Given the description of an element on the screen output the (x, y) to click on. 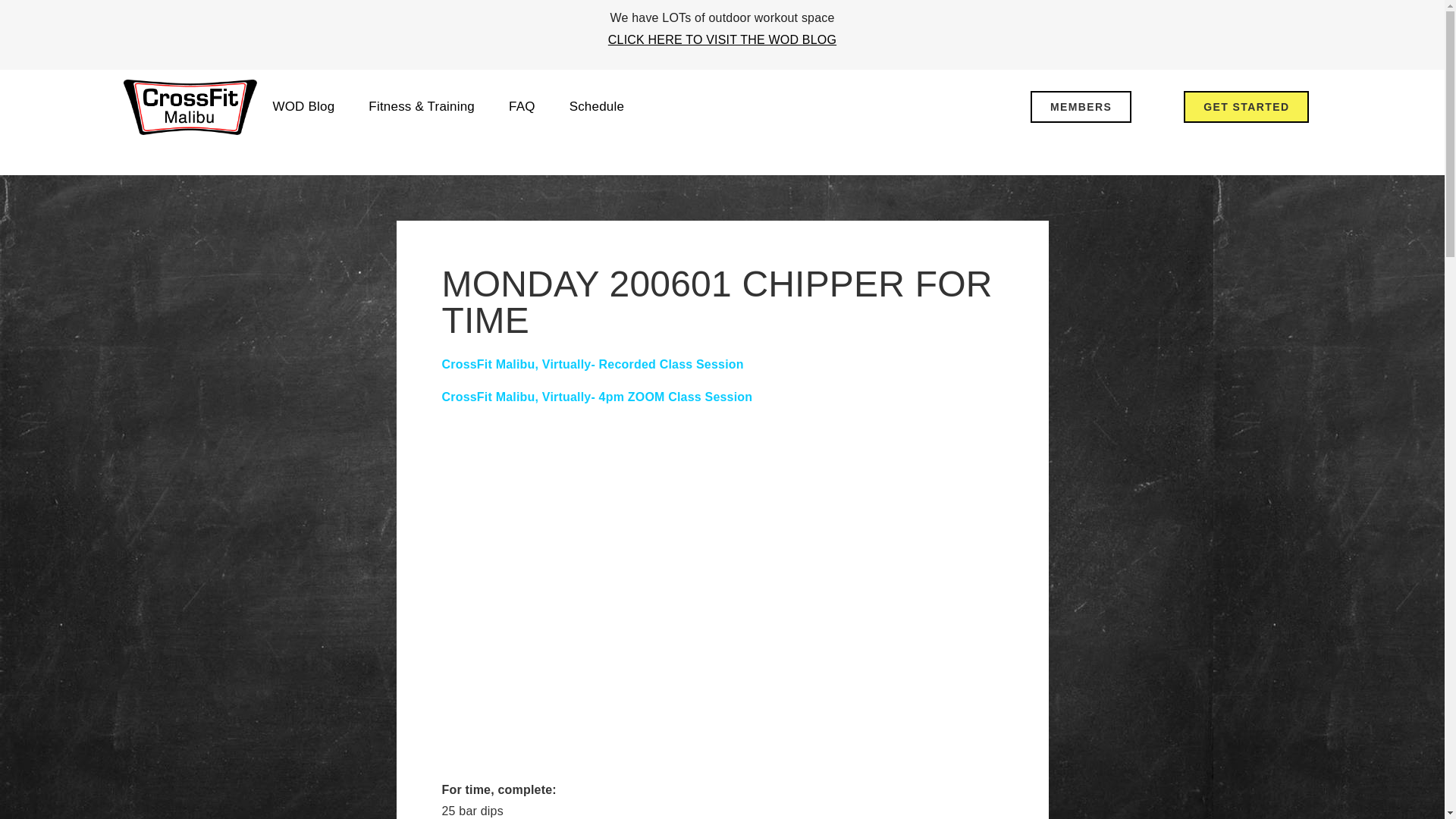
CrossFit Malibu, Virtually- Recorded Class Session (591, 364)
MEMBERS (1080, 106)
CrossFit Malibu, Virtually- 4pm ZOOM Class Session (596, 396)
WOD Blog (303, 106)
GET STARTED (1245, 106)
Schedule (597, 106)
CLICK HERE TO VISIT THE WOD BLOG (721, 39)
FAQ (521, 106)
